Given the description of an element on the screen output the (x, y) to click on. 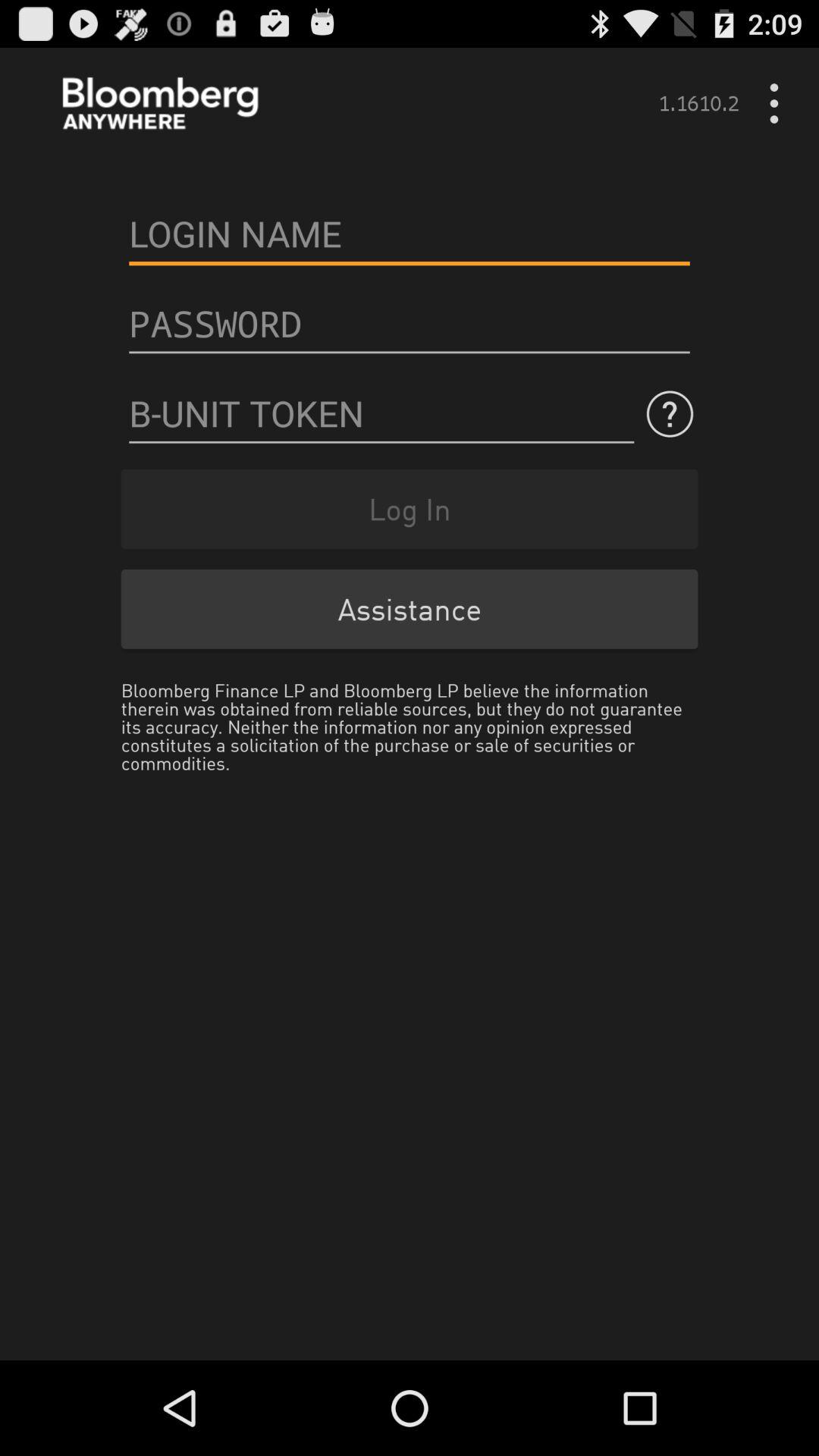
click item to the right of 1.1610.2 (779, 103)
